Given the description of an element on the screen output the (x, y) to click on. 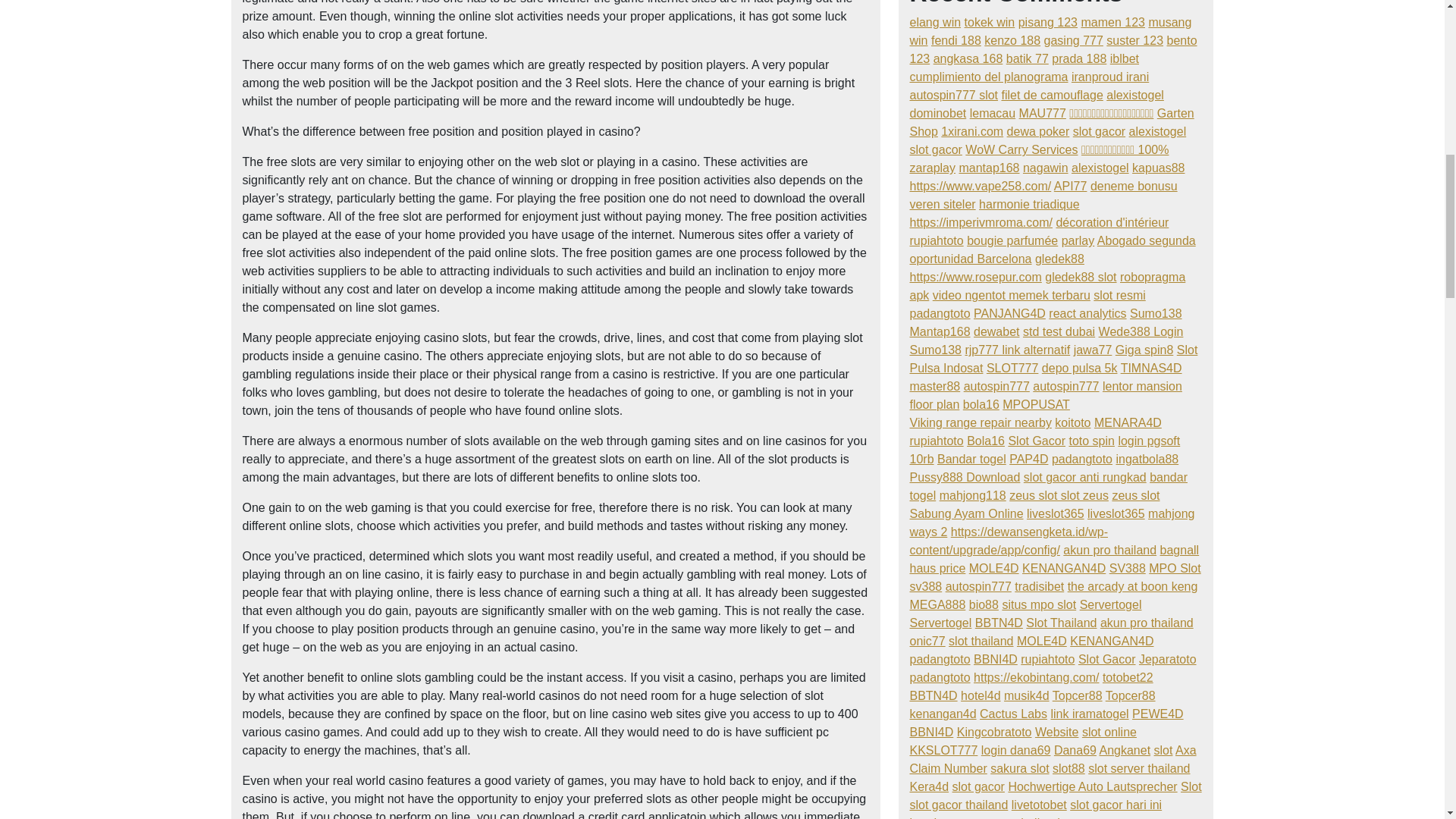
kenzo 188 (1012, 40)
tokek win (988, 21)
gasing 777 (1073, 40)
fendi 188 (956, 40)
mamen 123 (1112, 21)
elang win (935, 21)
musang win (1051, 30)
pisang 123 (1047, 21)
